Given the description of an element on the screen output the (x, y) to click on. 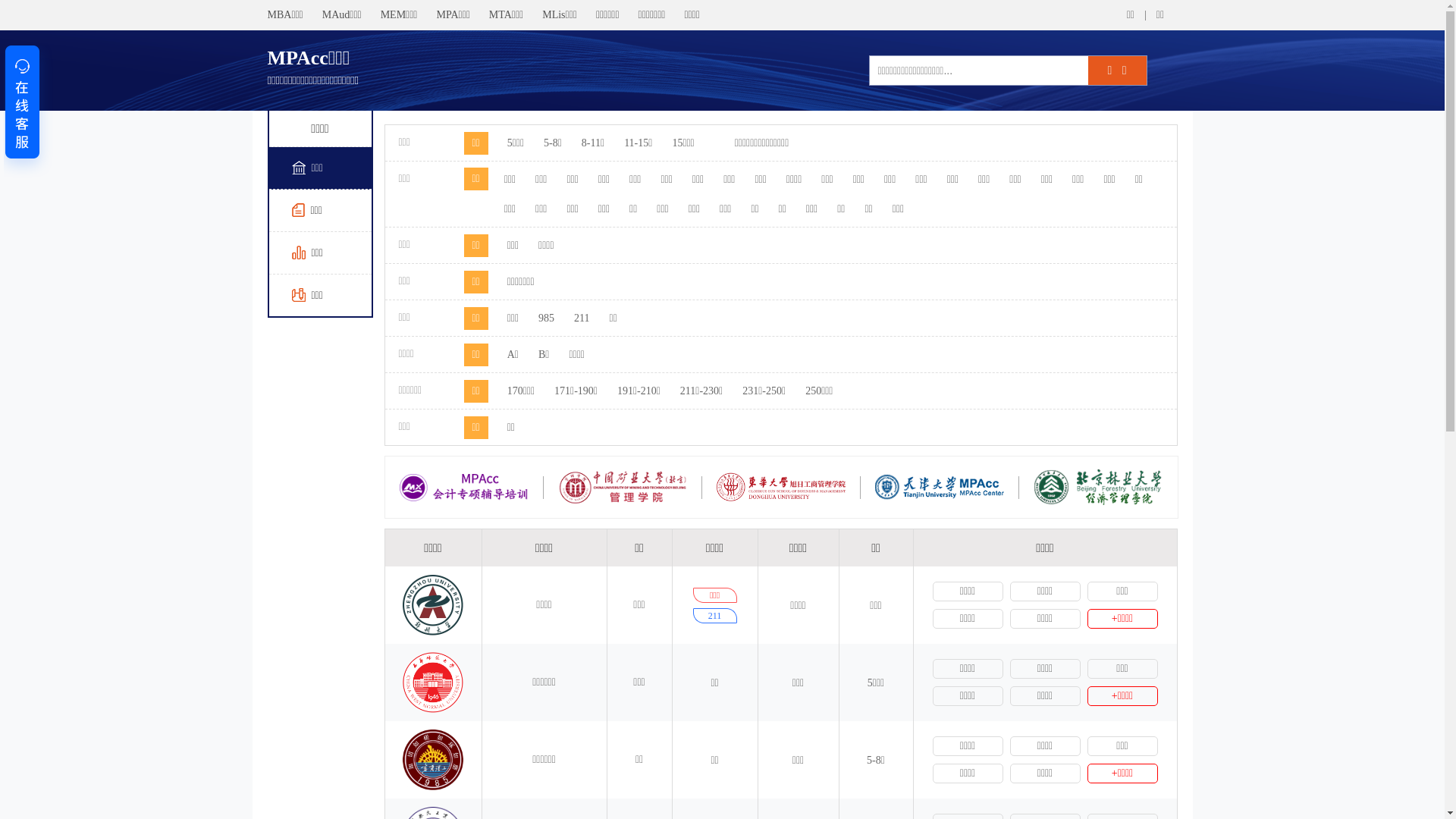
985 Element type: text (546, 318)
211 Element type: text (581, 318)
